Given the description of an element on the screen output the (x, y) to click on. 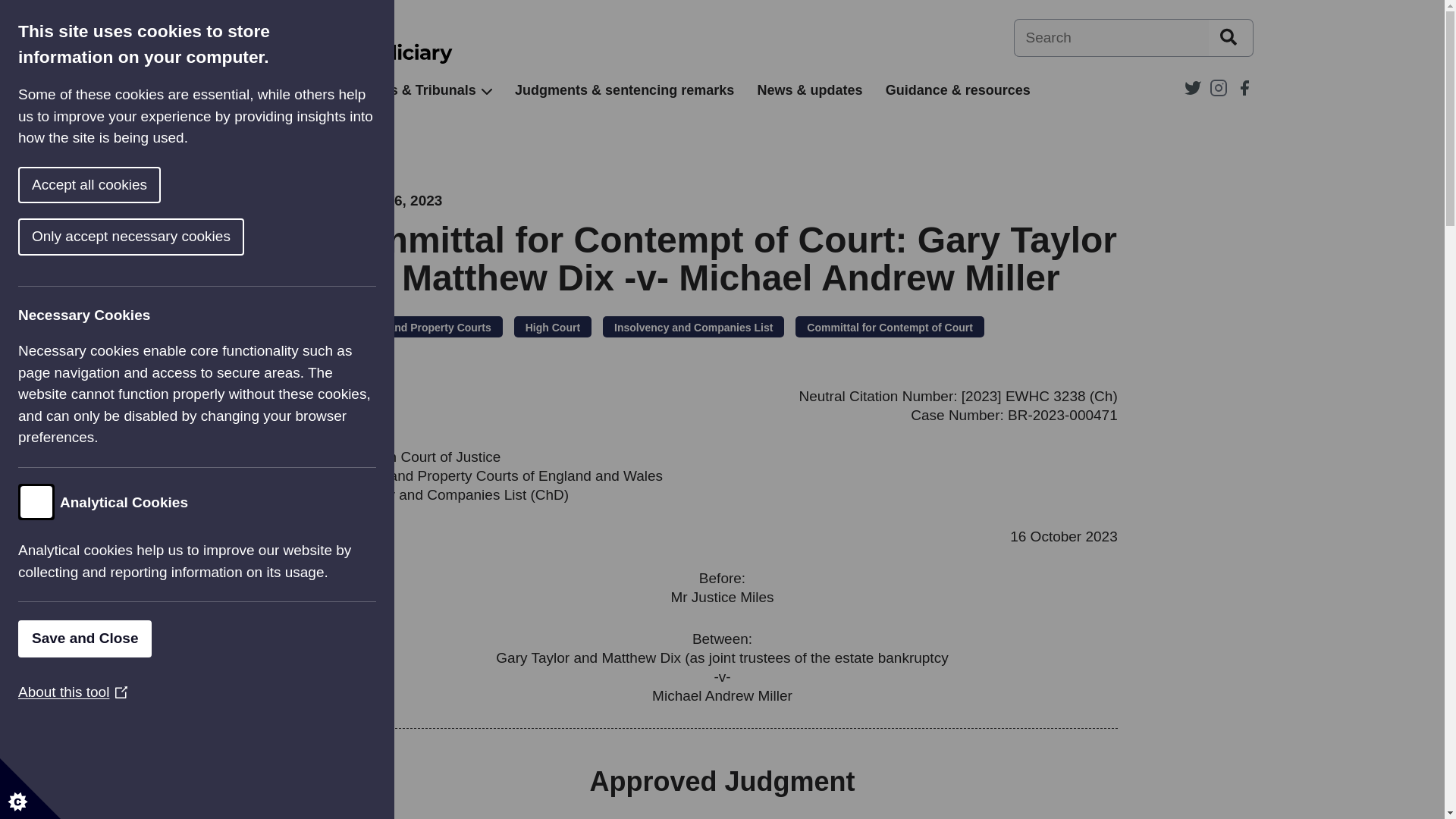
Only accept necessary cookies (82, 236)
About the judiciary (252, 90)
Accept all cookies (22, 185)
Save and Close (50, 638)
Skip to main content (11, 7)
